Given the description of an element on the screen output the (x, y) to click on. 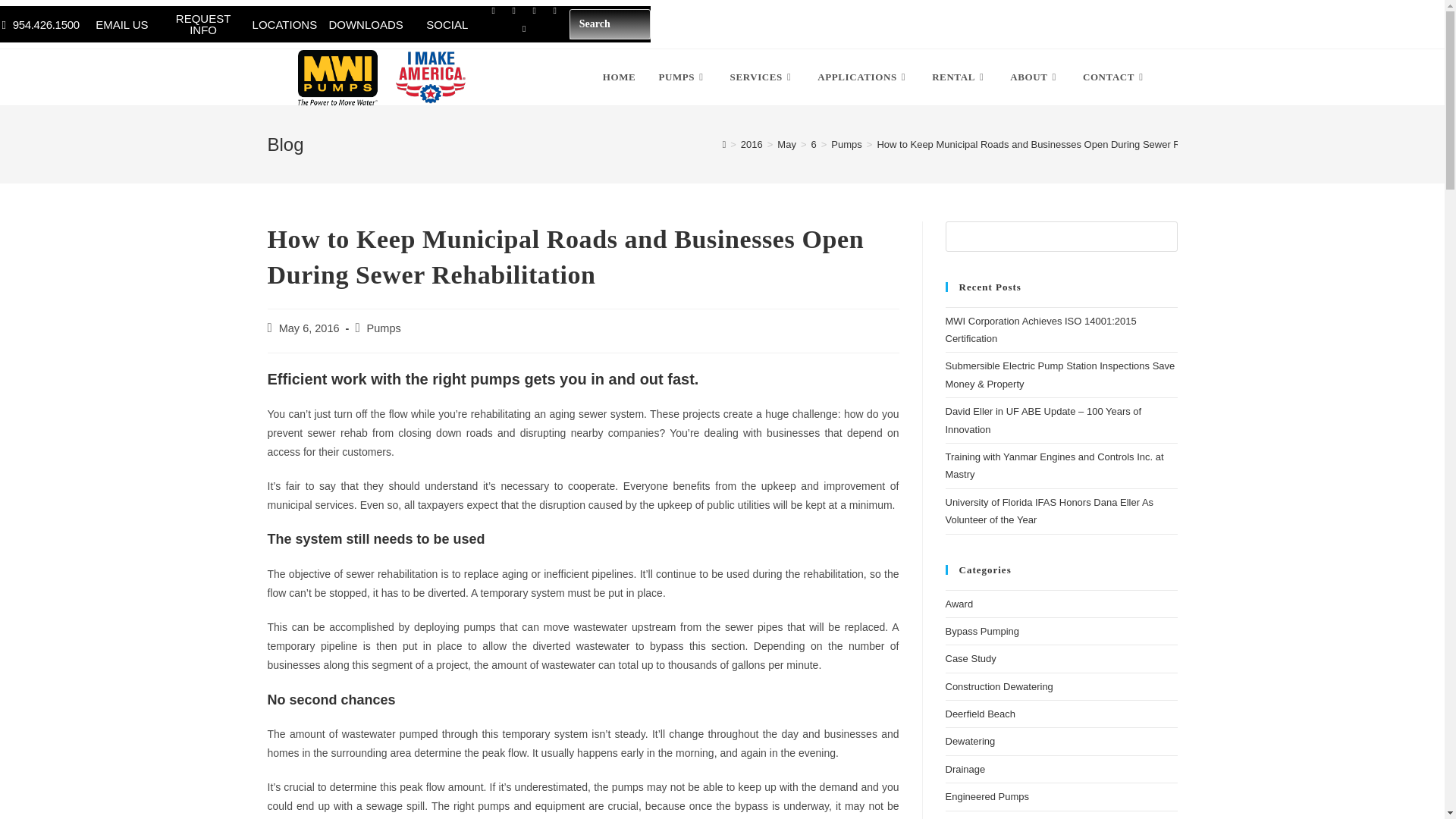
LOCATIONS (284, 24)
DOWNLOADS (366, 24)
PUMPS (681, 77)
SOCIAL (446, 24)
954.426.1500 (39, 24)
REQUEST INFO (203, 24)
EMAIL US (122, 24)
HOME (619, 77)
